Given the description of an element on the screen output the (x, y) to click on. 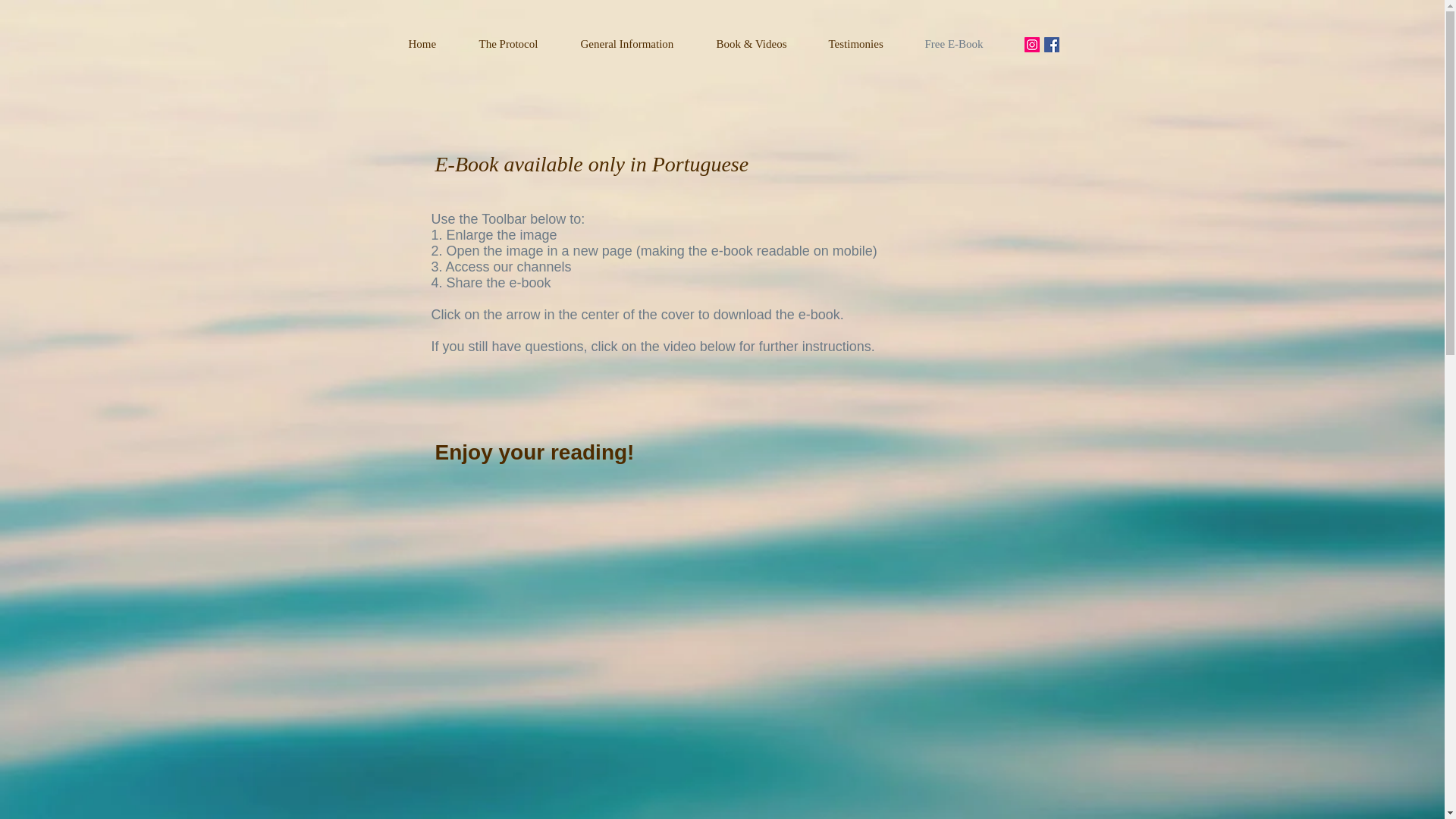
The Protocol (522, 44)
Testimonies (869, 44)
Home (435, 44)
General Information (641, 44)
Free E-Book (967, 44)
